Given the description of an element on the screen output the (x, y) to click on. 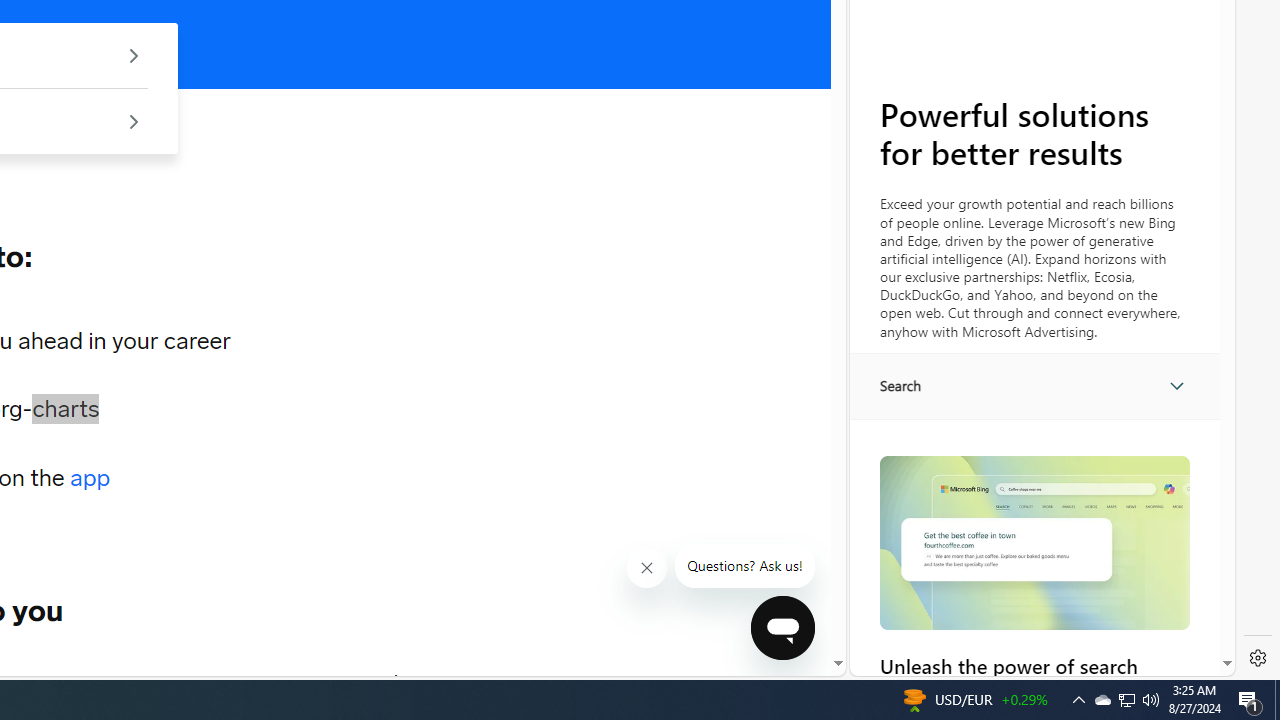
Class: sc-1k07fow-1 cbnSms (782, 627)
See group offers (133, 120)
Class: sc-1uf0igr-1 fjHZYk (646, 568)
STRATEGY (283, 681)
Open messaging window (783, 628)
AutomationID: search (1034, 385)
MEDIA (397, 681)
